Given the description of an element on the screen output the (x, y) to click on. 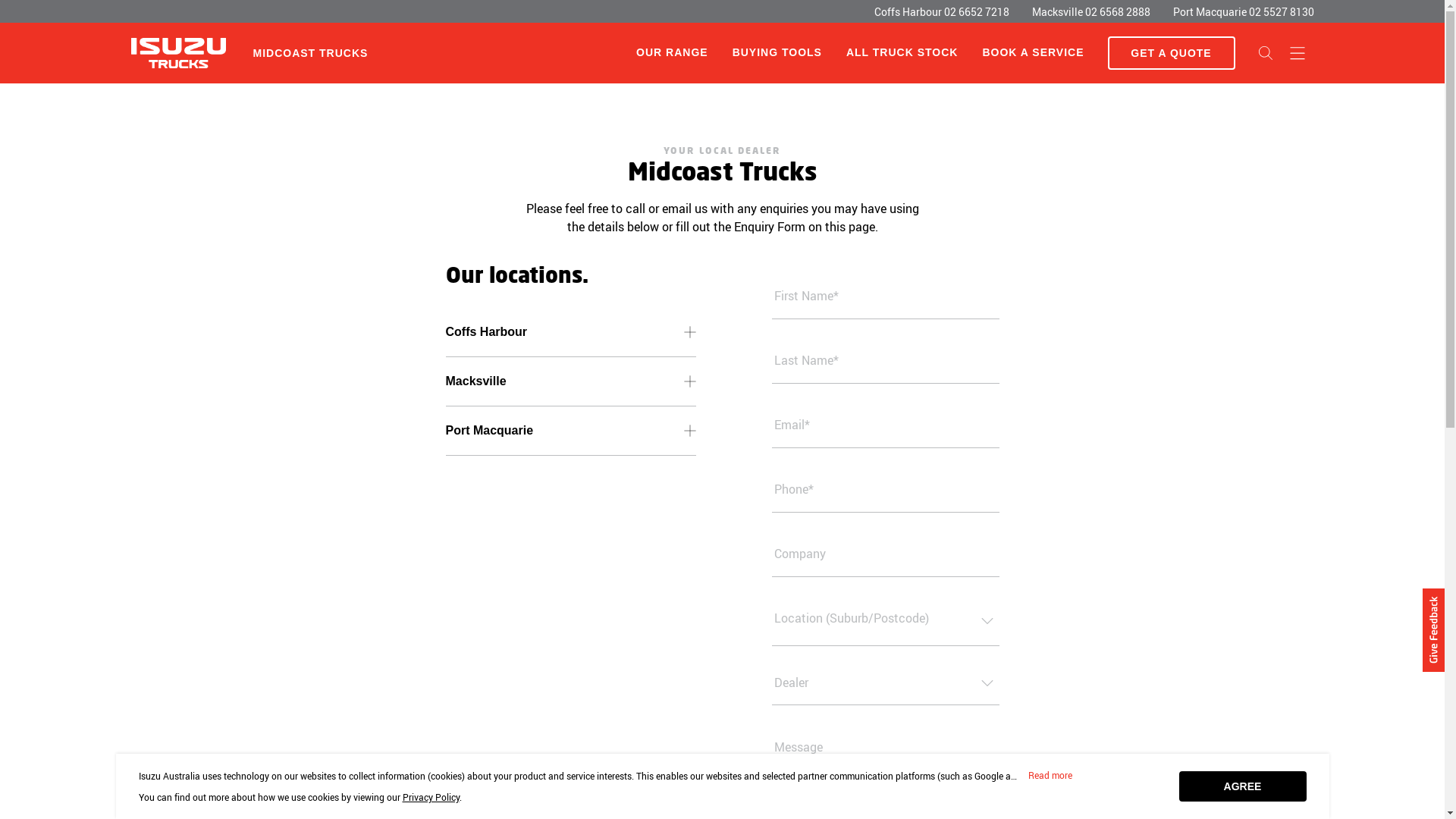
BOOK A SERVICE Element type: text (1032, 52)
GET A QUOTE Element type: text (1170, 52)
AGREE Element type: text (1241, 786)
Macksville Element type: text (570, 381)
Coffs Harbour Element type: text (570, 331)
ALL TRUCK STOCK Element type: text (901, 52)
OUR RANGE Element type: text (672, 52)
Privacy Policy Element type: text (429, 796)
Port Macquarie Element type: text (570, 430)
02 5527 8130 Element type: text (1280, 11)
BUYING TOOLS Element type: text (777, 52)
02 6652 7218 Element type: text (975, 11)
02 6568 2888 Element type: text (1116, 11)
Read more Element type: text (1049, 775)
